Given the description of an element on the screen output the (x, y) to click on. 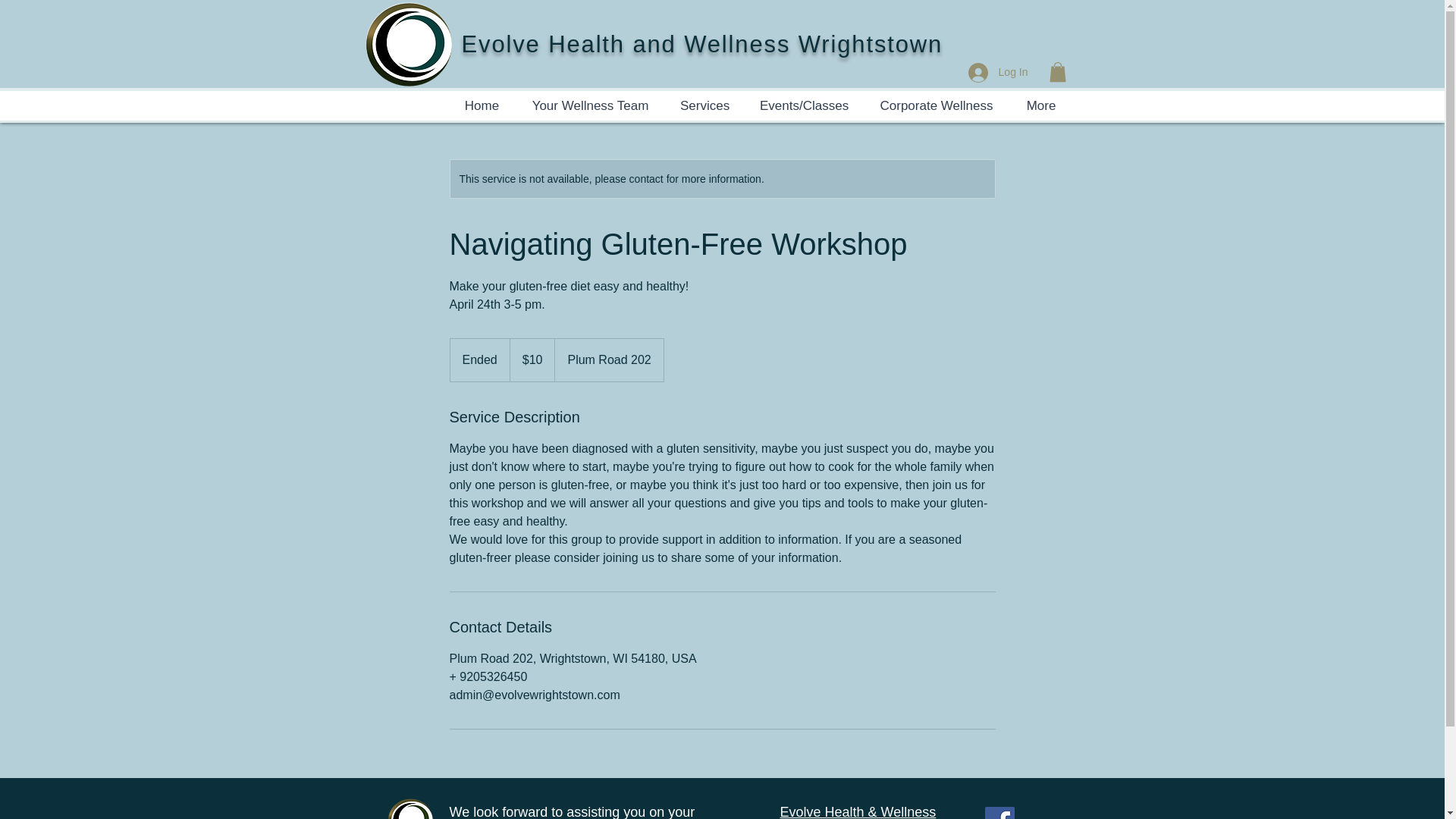
Corporate Wellness (936, 105)
Evolve Health and Wellness Wrightstown (701, 44)
Services (704, 105)
Home (481, 105)
Your Wellness Team (590, 105)
Log In (998, 71)
